Given the description of an element on the screen output the (x, y) to click on. 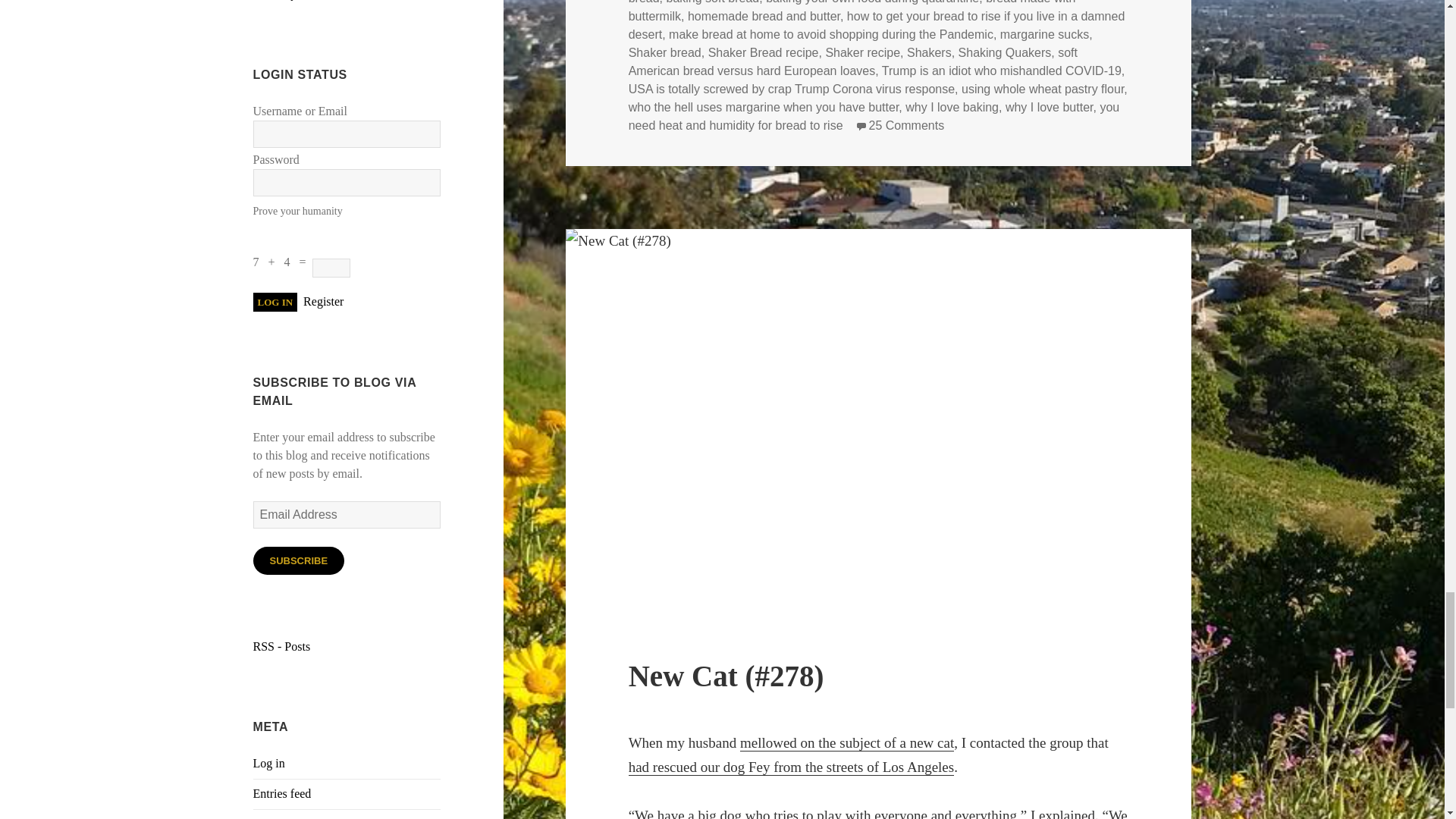
log in (275, 302)
Subscribe to posts (282, 645)
